Given the description of an element on the screen output the (x, y) to click on. 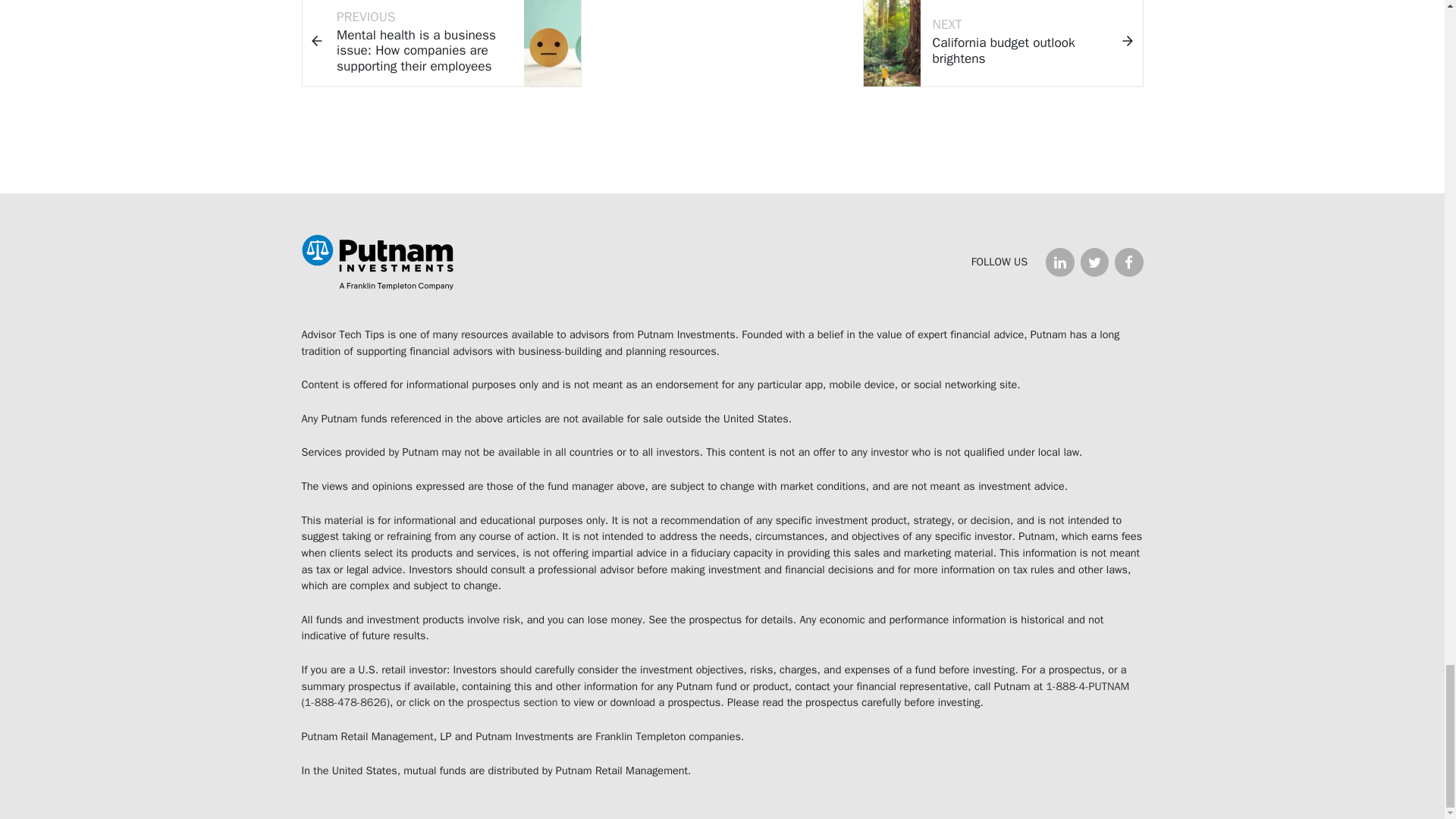
on Twitter (1094, 262)
on Facebook (1128, 262)
on LinkedIn (1059, 262)
